Given the description of an element on the screen output the (x, y) to click on. 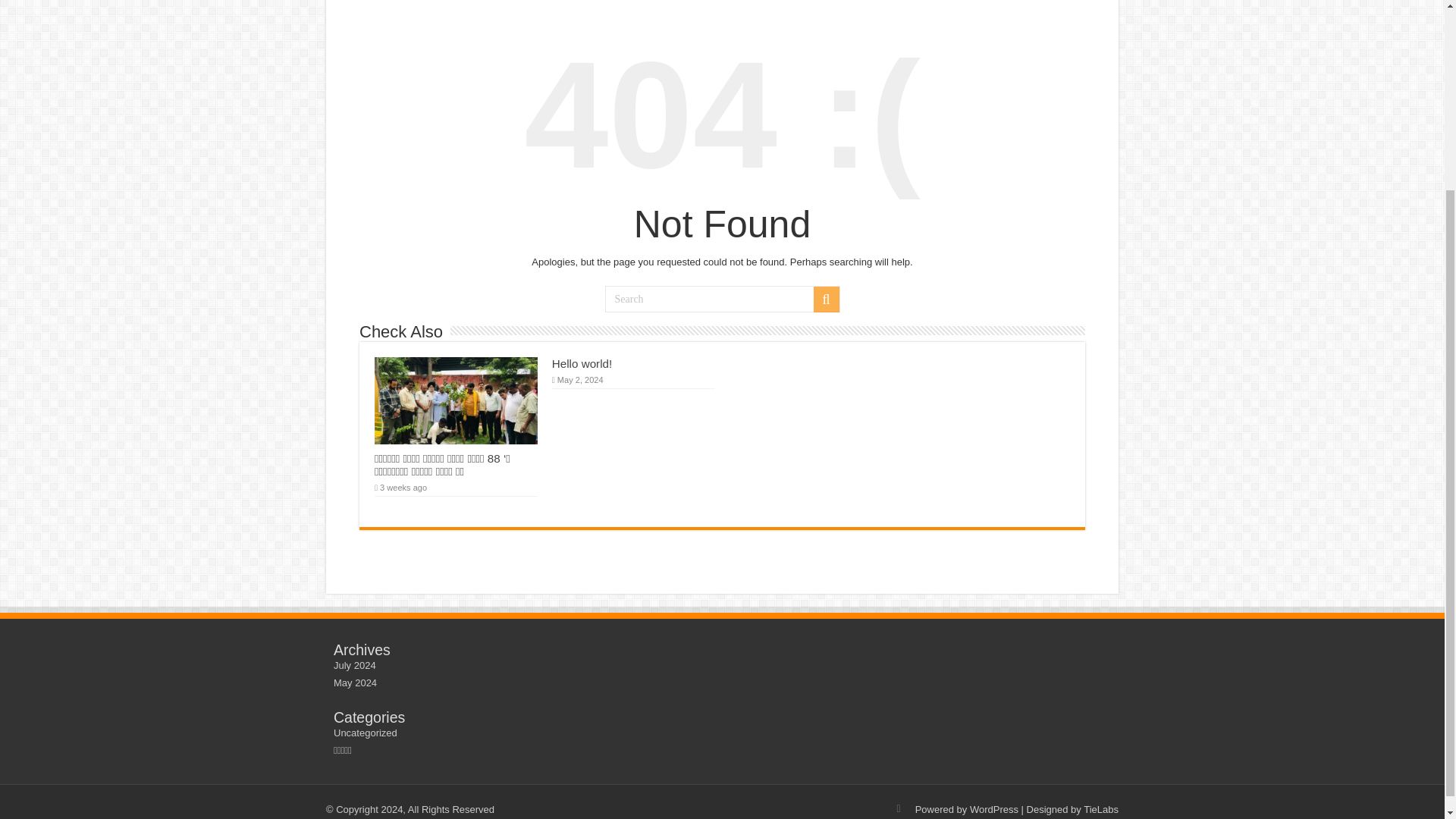
Search (825, 299)
Hello world! (581, 363)
Search (722, 298)
WordPress (993, 808)
May 2024 (355, 682)
Uncategorized (365, 732)
July 2024 (354, 665)
TieLabs (1100, 808)
Rss (898, 809)
